Given the description of an element on the screen output the (x, y) to click on. 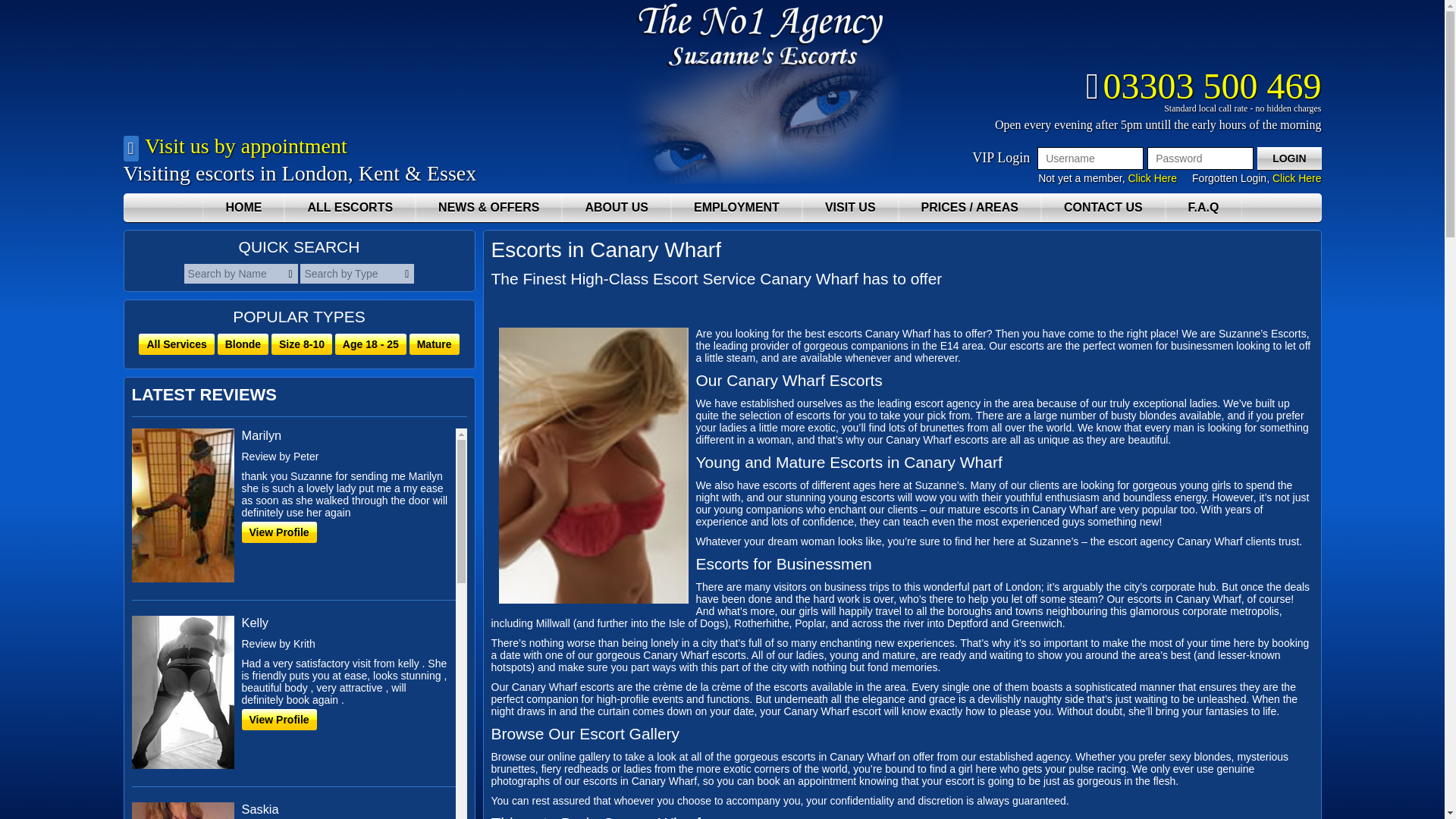
HOME (242, 207)
Suzannes Escorts (760, 179)
View Kelly's Profile (293, 701)
ALL ESCORTS (348, 207)
Click Here (1297, 177)
Click Here (1151, 177)
All Escorts (348, 207)
All Services (176, 343)
CONTACT US (1103, 207)
Login (1288, 158)
Contact Us (1103, 207)
Size 8-10 (300, 343)
Employment (736, 207)
Age 18 - 25 (370, 343)
03303 500 469 (1204, 86)
